Given the description of an element on the screen output the (x, y) to click on. 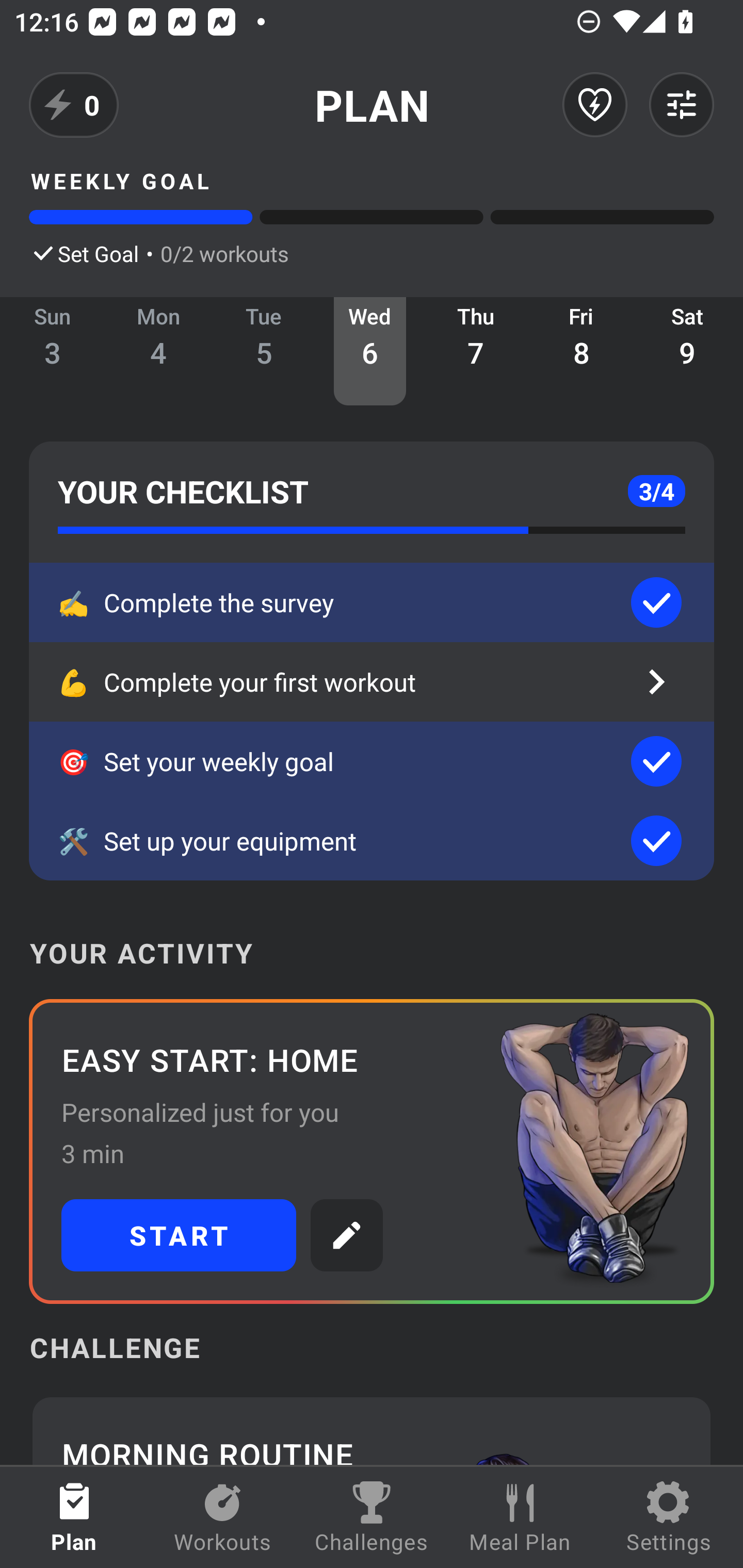
0 (73, 104)
Sun 3 (52, 351)
Mon 4 (158, 351)
Tue 5 (264, 351)
Wed 6 (369, 351)
Thu 7 (475, 351)
Fri 8 (581, 351)
Sat 9 (687, 351)
💪 Complete your first workout (371, 681)
START (178, 1235)
 Workouts  (222, 1517)
 Challenges  (371, 1517)
 Meal Plan  (519, 1517)
 Settings  (668, 1517)
